Given the description of an element on the screen output the (x, y) to click on. 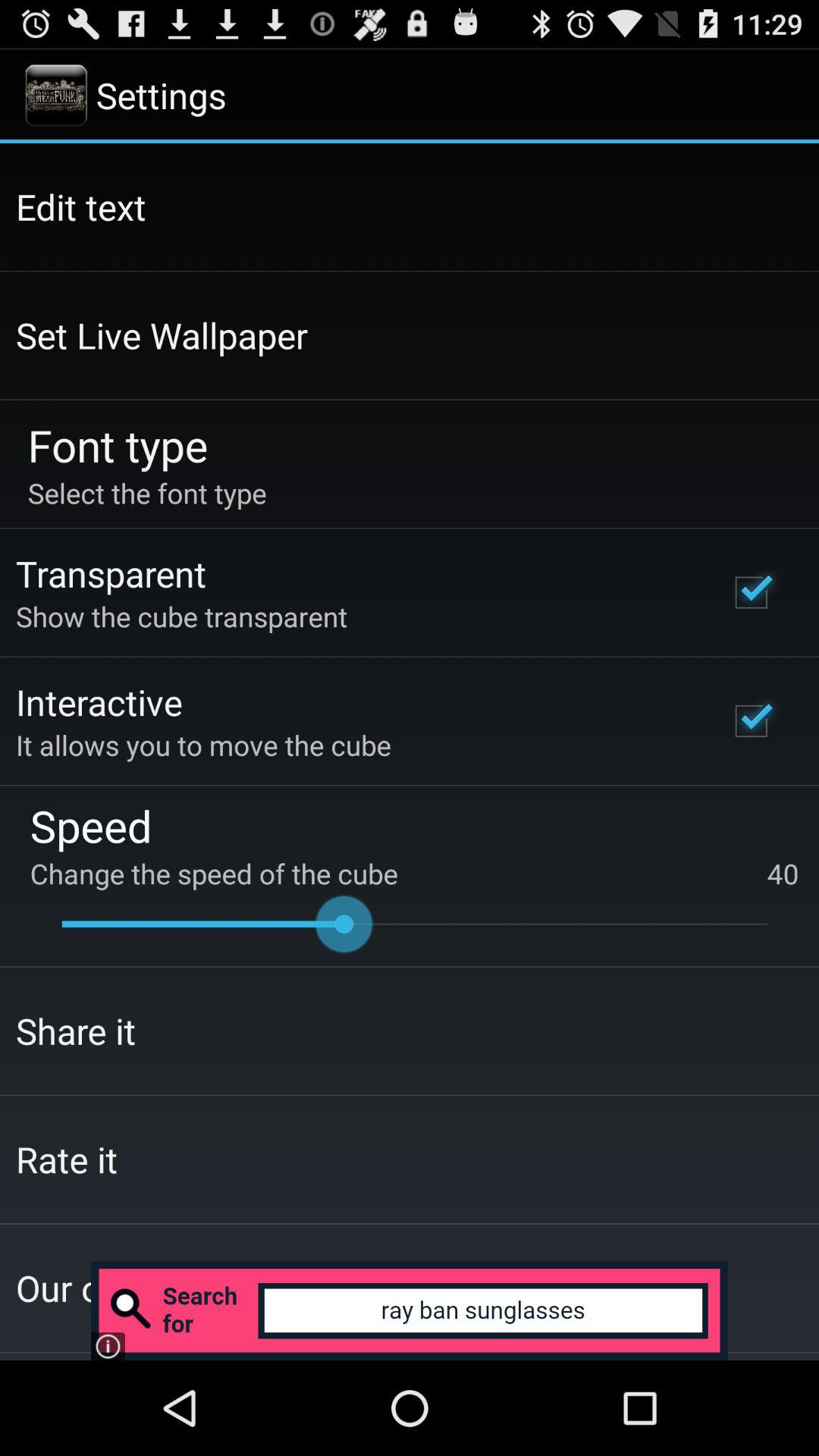
tap icon above rate it (75, 1030)
